Given the description of an element on the screen output the (x, y) to click on. 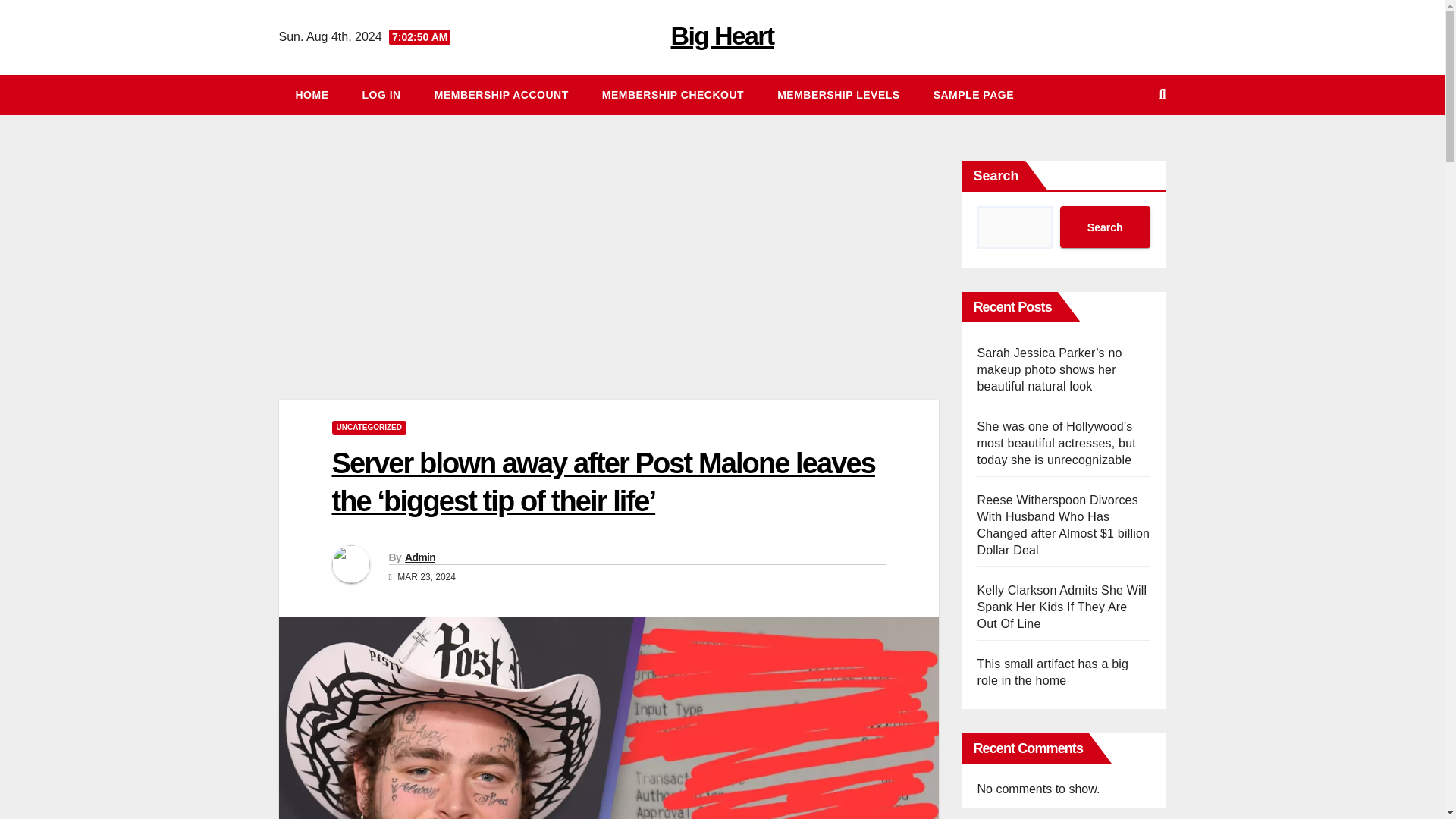
MEMBERSHIP LEVELS (838, 94)
Home (312, 94)
MEMBERSHIP ACCOUNT (501, 94)
MEMBERSHIP CHECKOUT (672, 94)
SAMPLE PAGE (973, 94)
Admin (419, 557)
UNCATEGORIZED (368, 427)
Big Heart (722, 35)
HOME (312, 94)
LOG IN (381, 94)
